Given the description of an element on the screen output the (x, y) to click on. 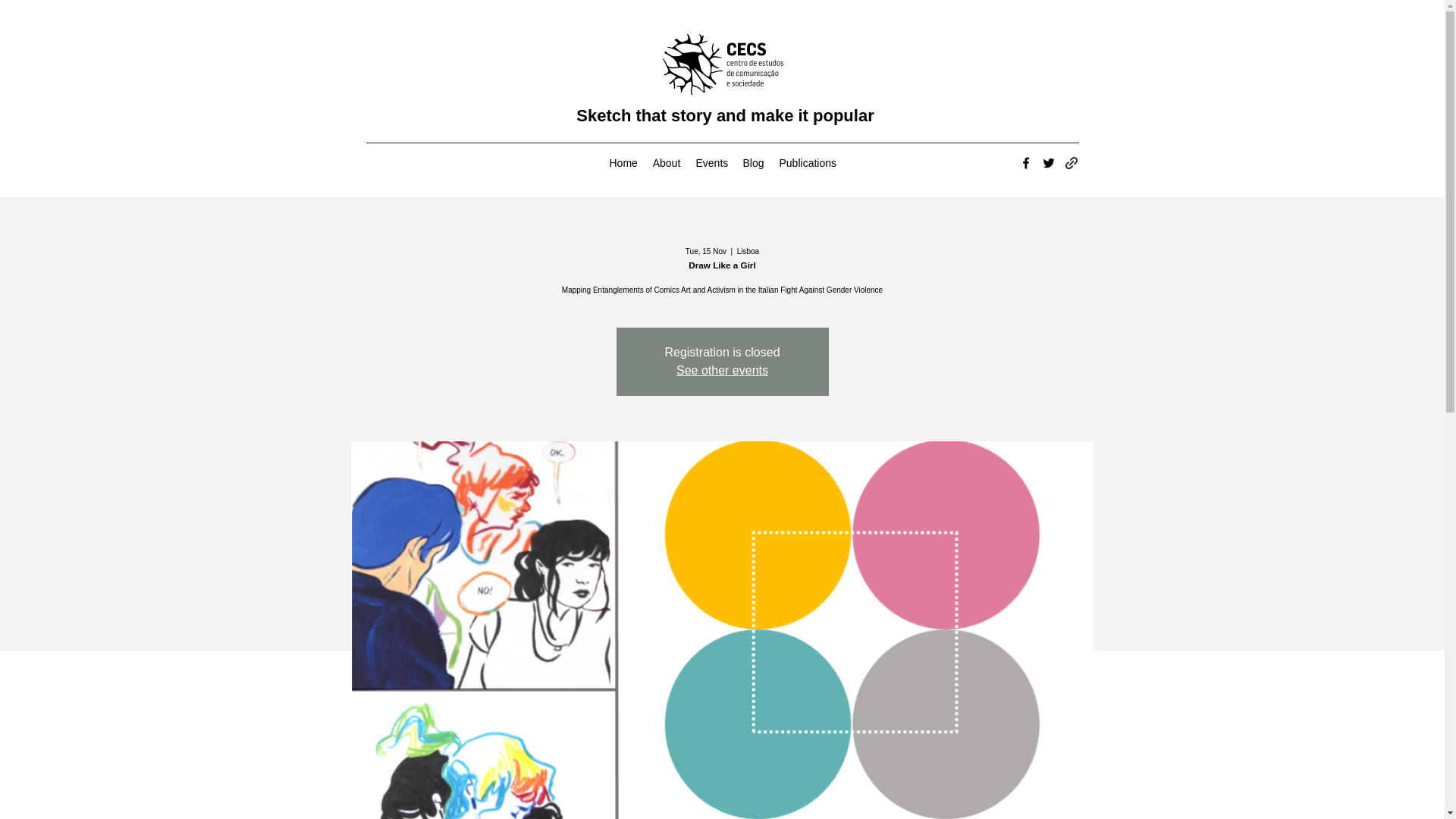
Home (623, 162)
Blog (753, 162)
About (666, 162)
Publications (807, 162)
See other events (722, 369)
Events (711, 162)
